Given the description of an element on the screen output the (x, y) to click on. 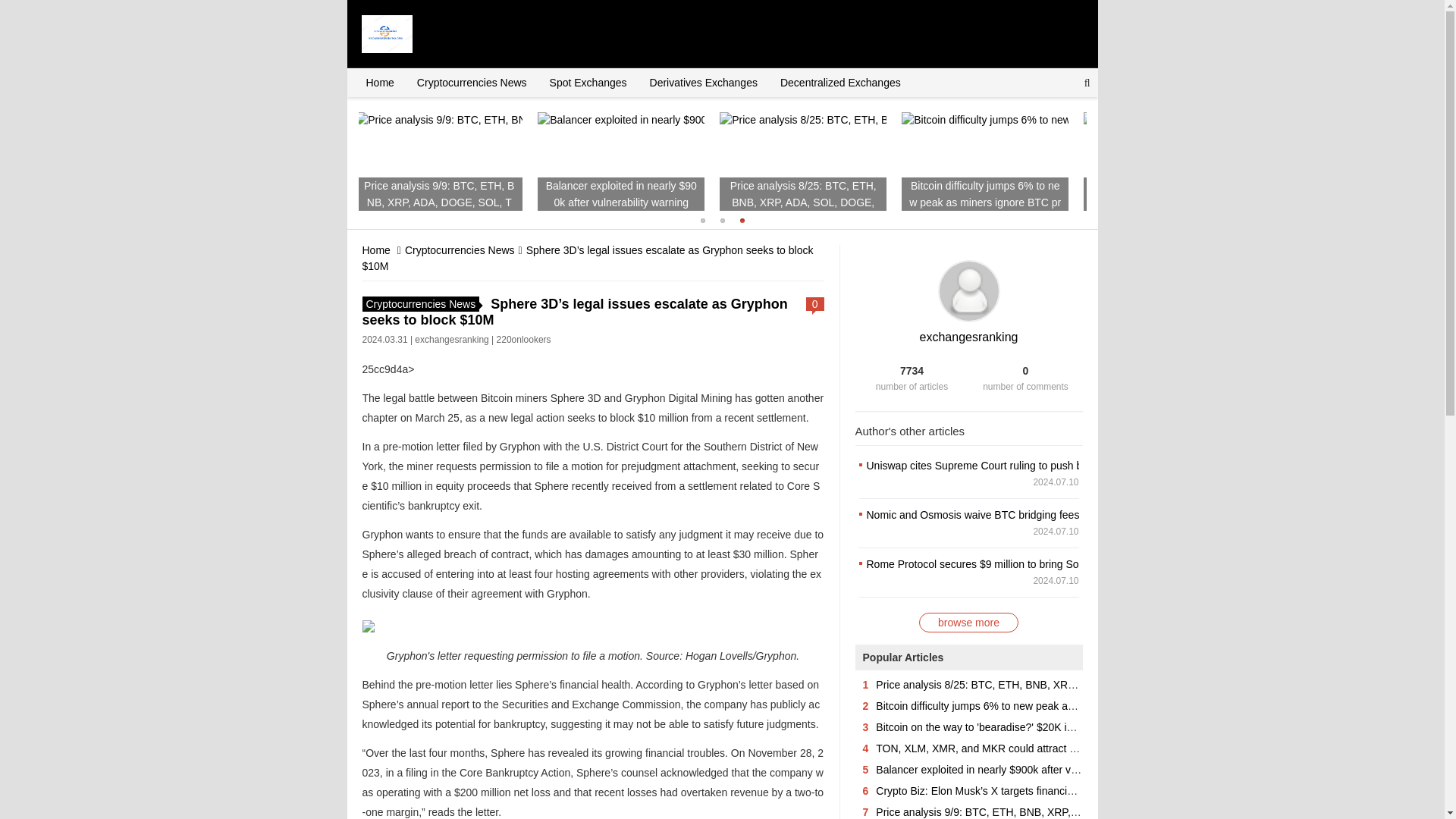
exchangesranking (450, 339)
Cryptocurrencies News (459, 250)
exchangesranking (968, 336)
Home (376, 250)
Decentralized Exchanges (840, 82)
Derivatives Exchanges (703, 82)
Home (379, 82)
0 (815, 304)
Home (379, 82)
